Given the description of an element on the screen output the (x, y) to click on. 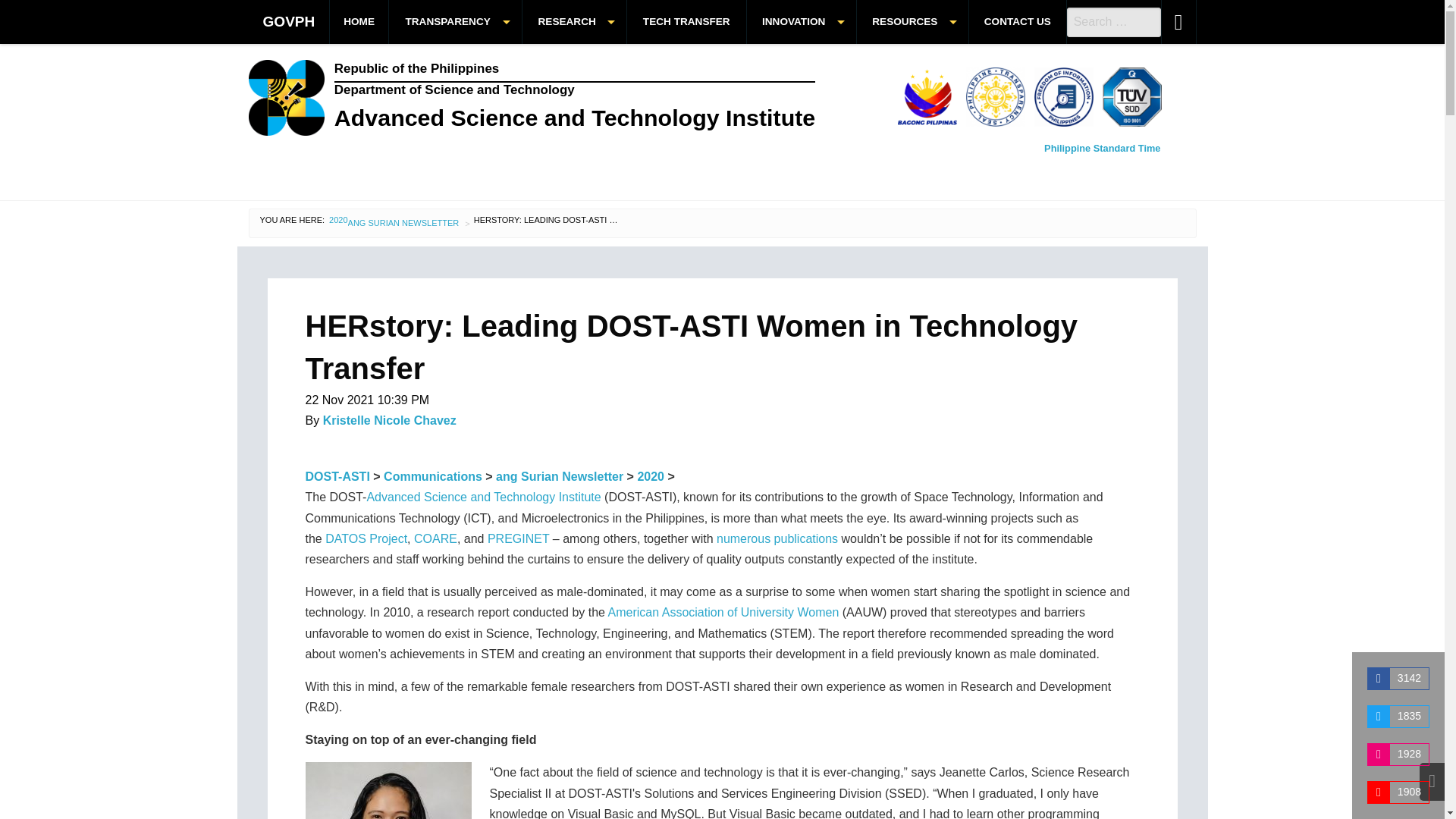
Go to the ang Surian Newsletter category archives. (559, 476)
DOST-ASTI (557, 96)
Go to DOST-ASTI. (336, 476)
Search for: (1113, 21)
Go to the 2020 category archives. (650, 476)
Go to the Communications category archives. (432, 476)
